Given the description of an element on the screen output the (x, y) to click on. 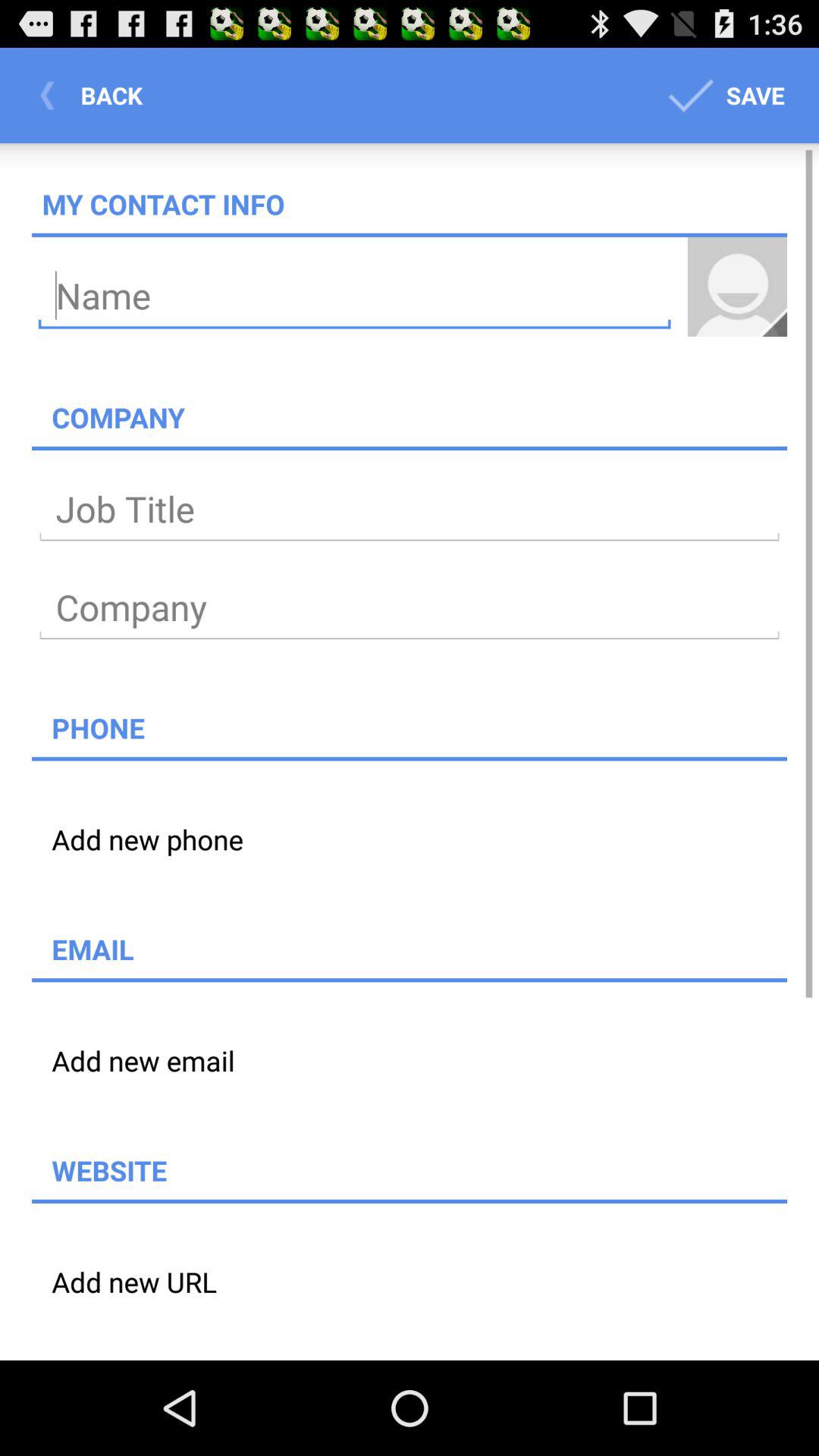
jump to back button (95, 95)
